Given the description of an element on the screen output the (x, y) to click on. 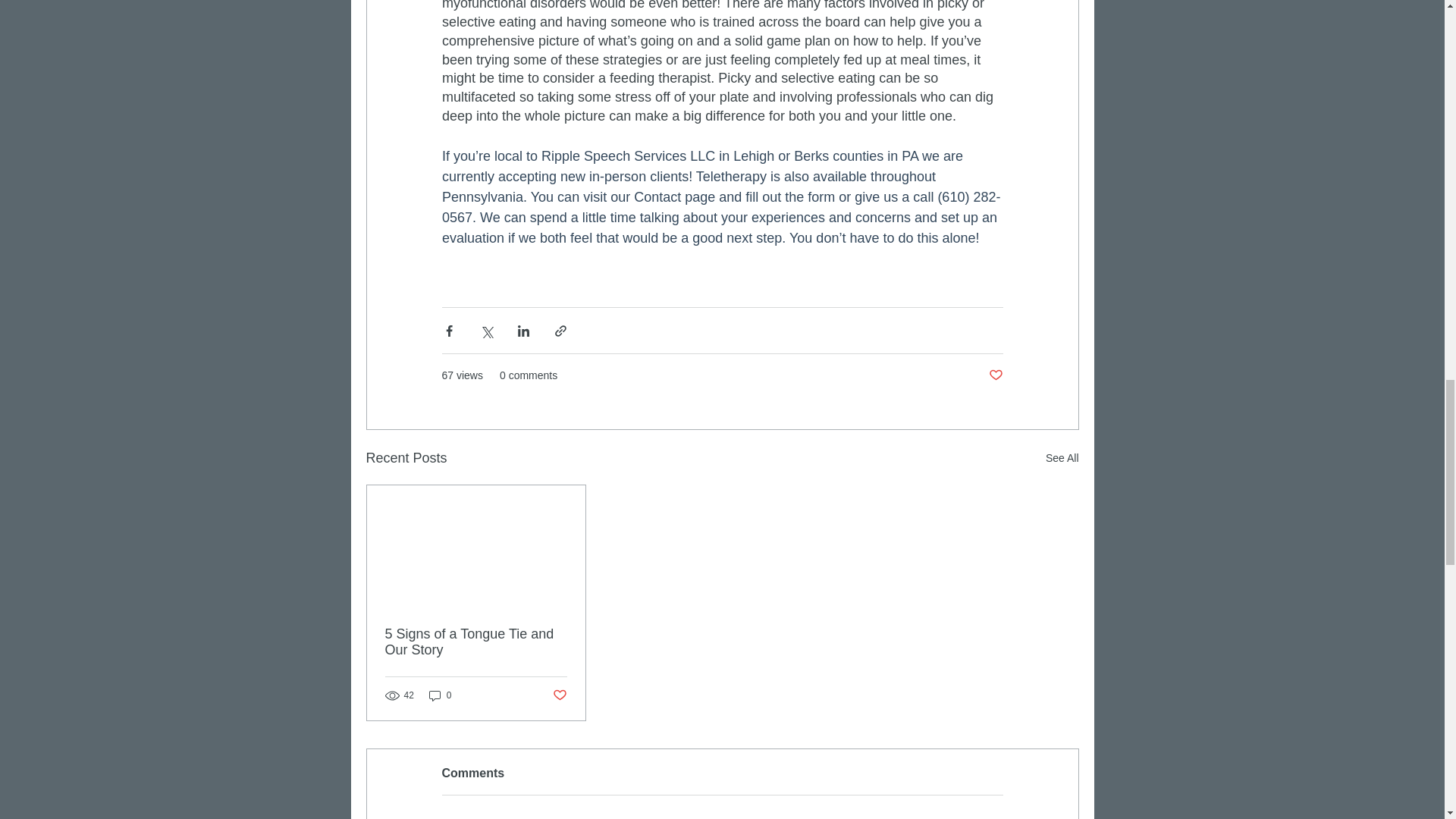
Post not marked as liked (995, 375)
See All (1061, 458)
Post not marked as liked (558, 695)
0 (440, 695)
5 Signs of a Tongue Tie and Our Story (476, 642)
